Given the description of an element on the screen output the (x, y) to click on. 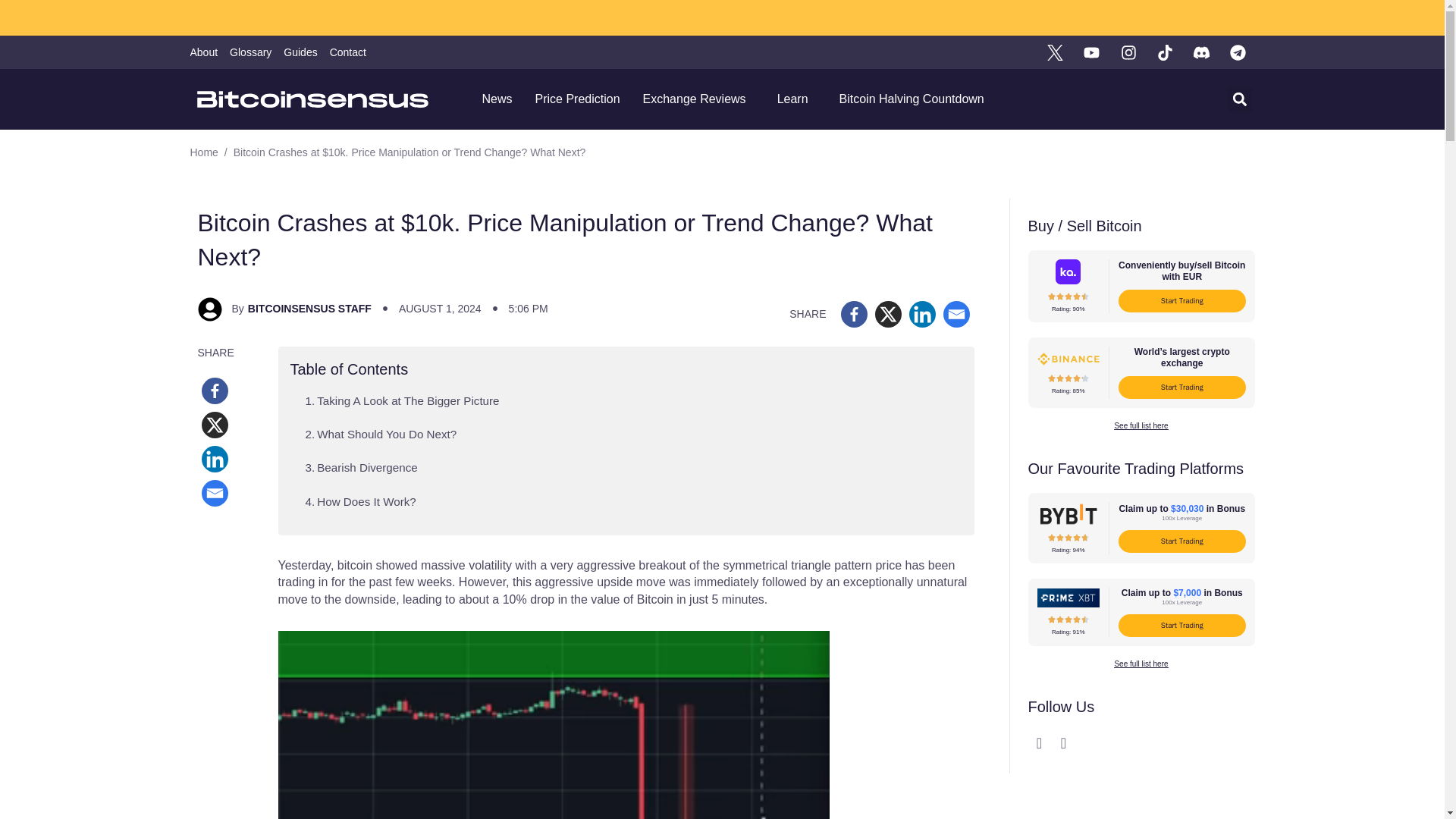
Taking A Look at The Bigger Picture (402, 401)
Glossary (250, 51)
Exchange Reviews (698, 98)
News (496, 98)
About (202, 51)
X (215, 424)
Price Prediction (576, 98)
Email (956, 314)
Bitcoin Halving Countdown (911, 98)
Learn (796, 98)
